Given the description of an element on the screen output the (x, y) to click on. 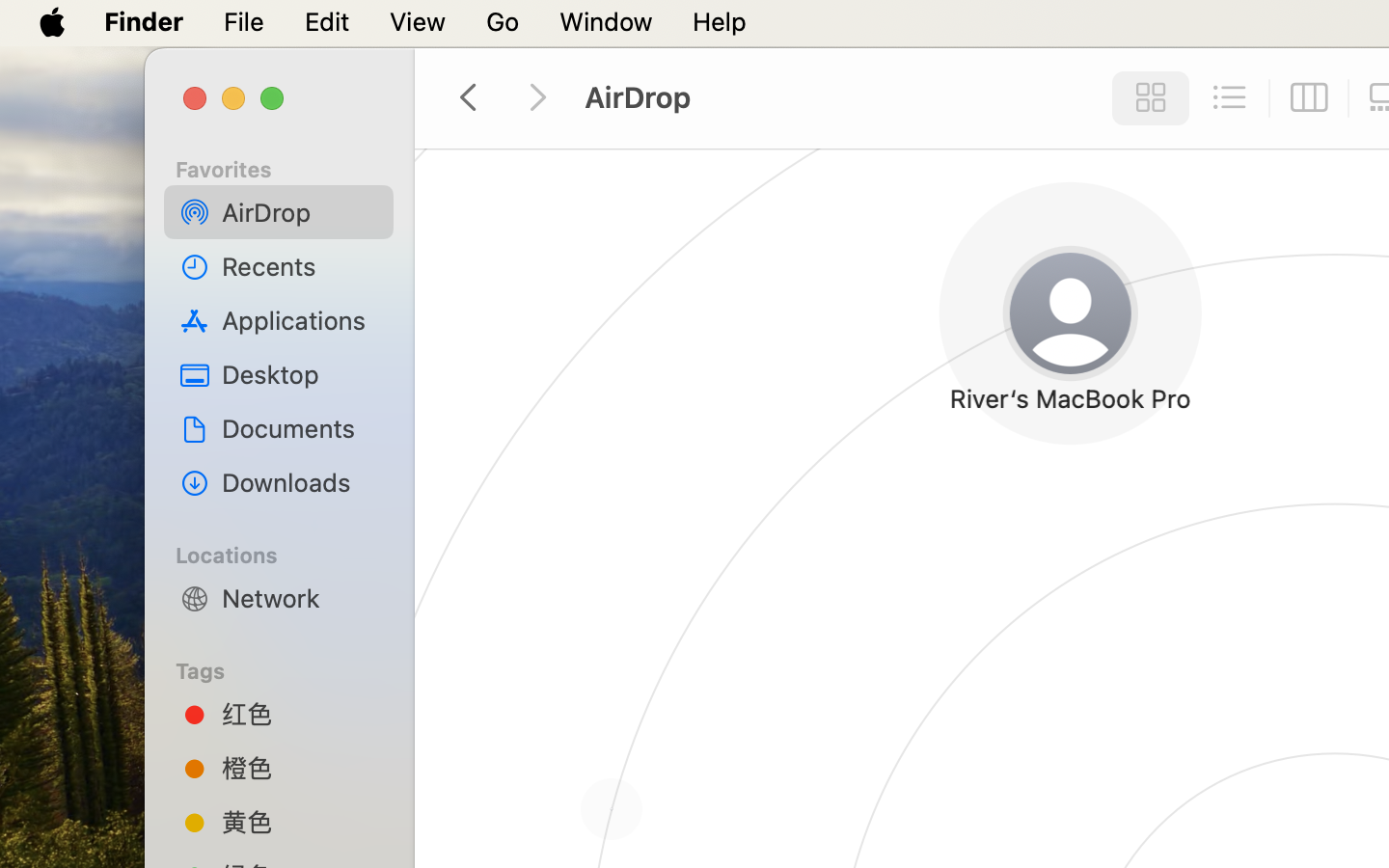
Locations Element type: AXStaticText (289, 552)
Network Element type: AXStaticText (299, 597)
黄色 Element type: AXStaticText (299, 821)
橙色 Element type: AXStaticText (299, 767)
Desktop Element type: AXStaticText (299, 373)
